Given the description of an element on the screen output the (x, y) to click on. 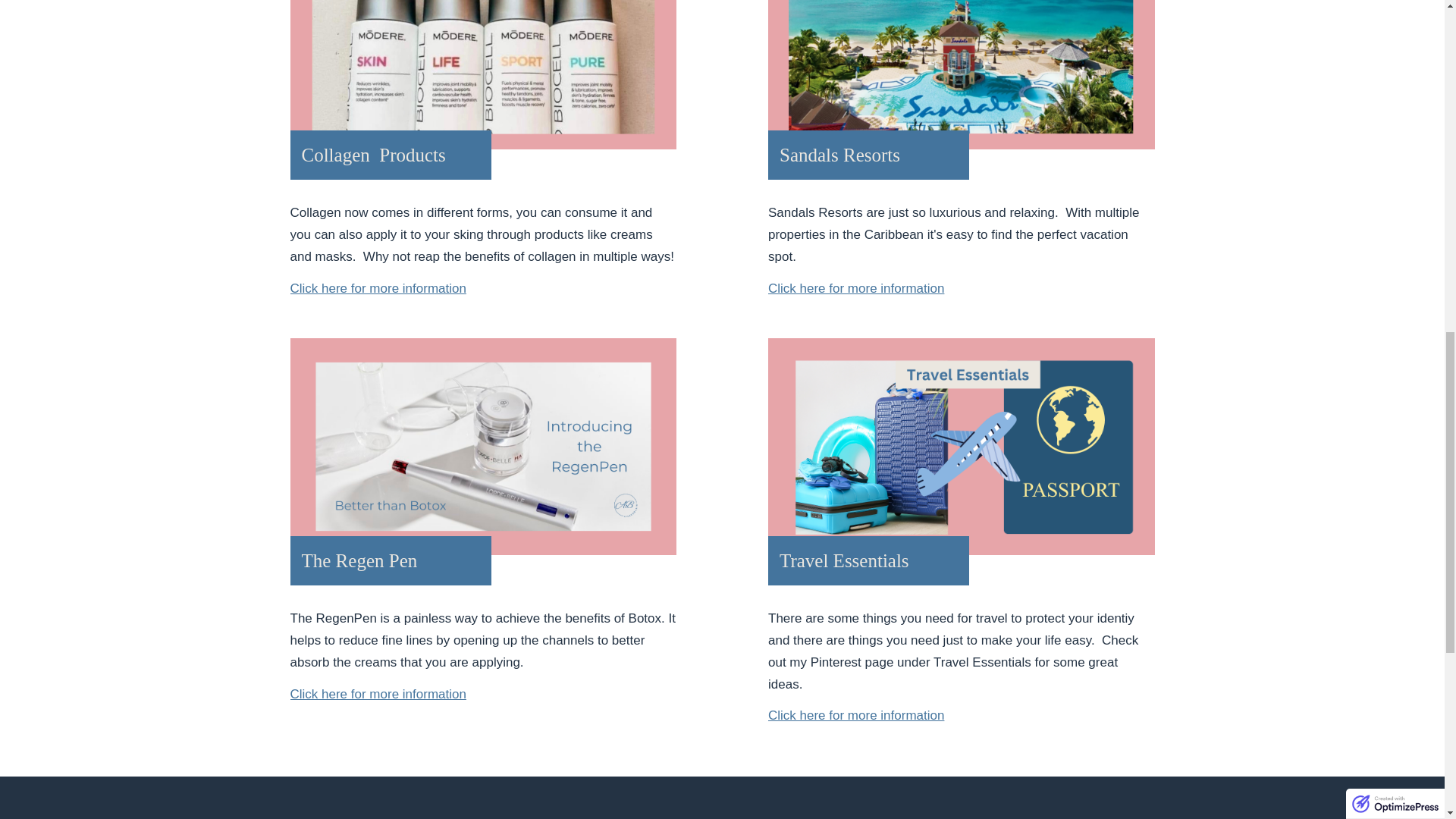
Click here for more information (377, 694)
The RegenPen (483, 447)
Click here for more information (855, 715)
Click here for more information (855, 288)
Travel Essentials (961, 447)
Click here for more information (377, 288)
Sandals Picture (961, 74)
